Given the description of an element on the screen output the (x, y) to click on. 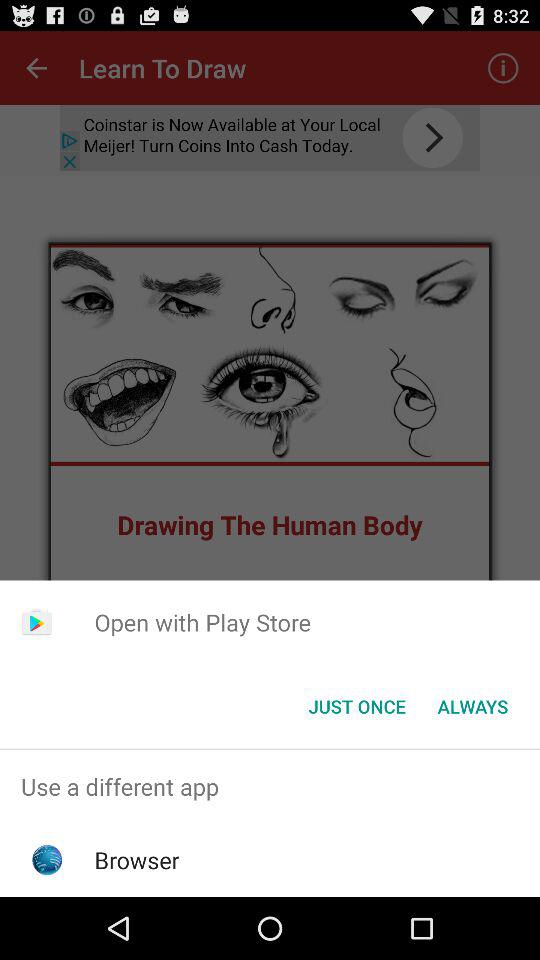
flip until just once item (356, 706)
